Given the description of an element on the screen output the (x, y) to click on. 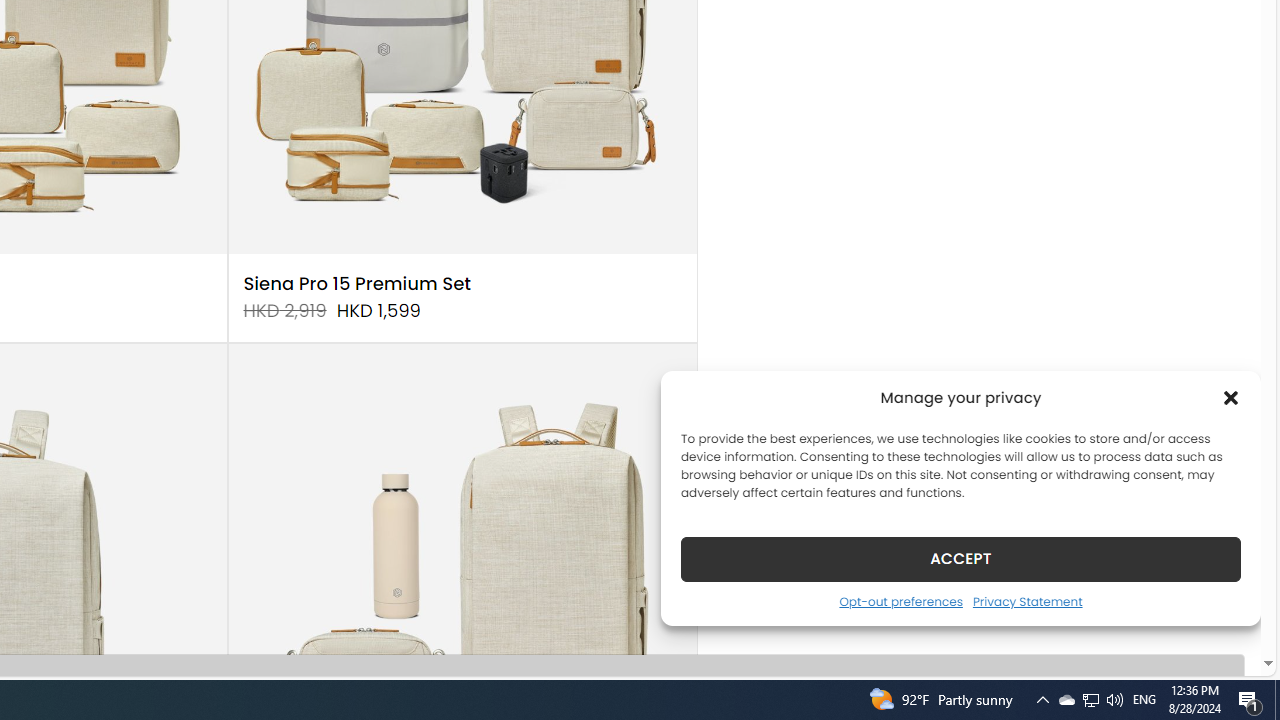
ACCEPT (960, 558)
Privacy Statement (1026, 601)
Siena Pro 15 Premium Set (357, 283)
Class: cmplz-close (1231, 397)
Opt-out preferences (900, 601)
